Given the description of an element on the screen output the (x, y) to click on. 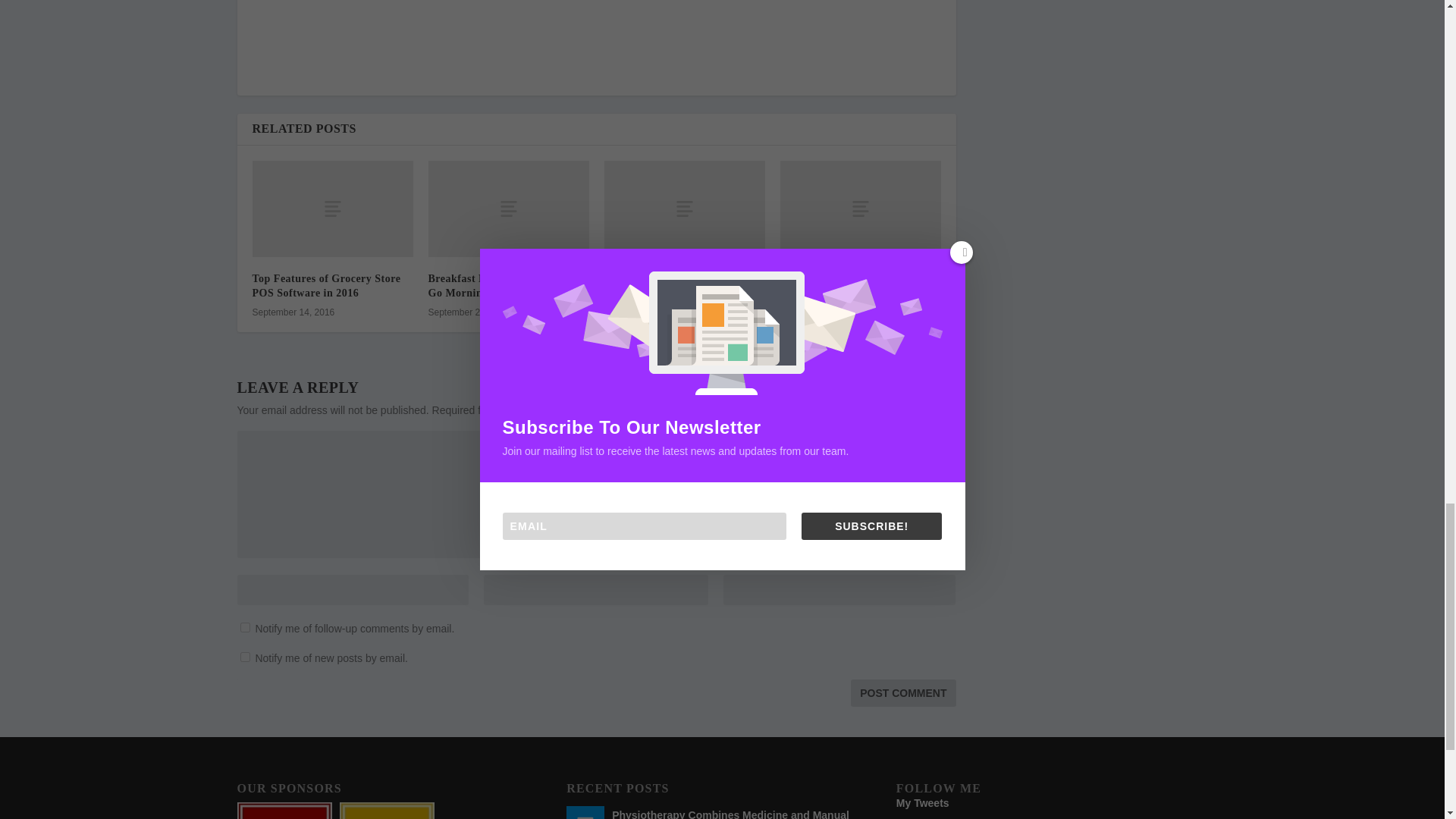
Post Comment (902, 692)
subscribe (244, 656)
subscribe (244, 627)
